Given the description of an element on the screen output the (x, y) to click on. 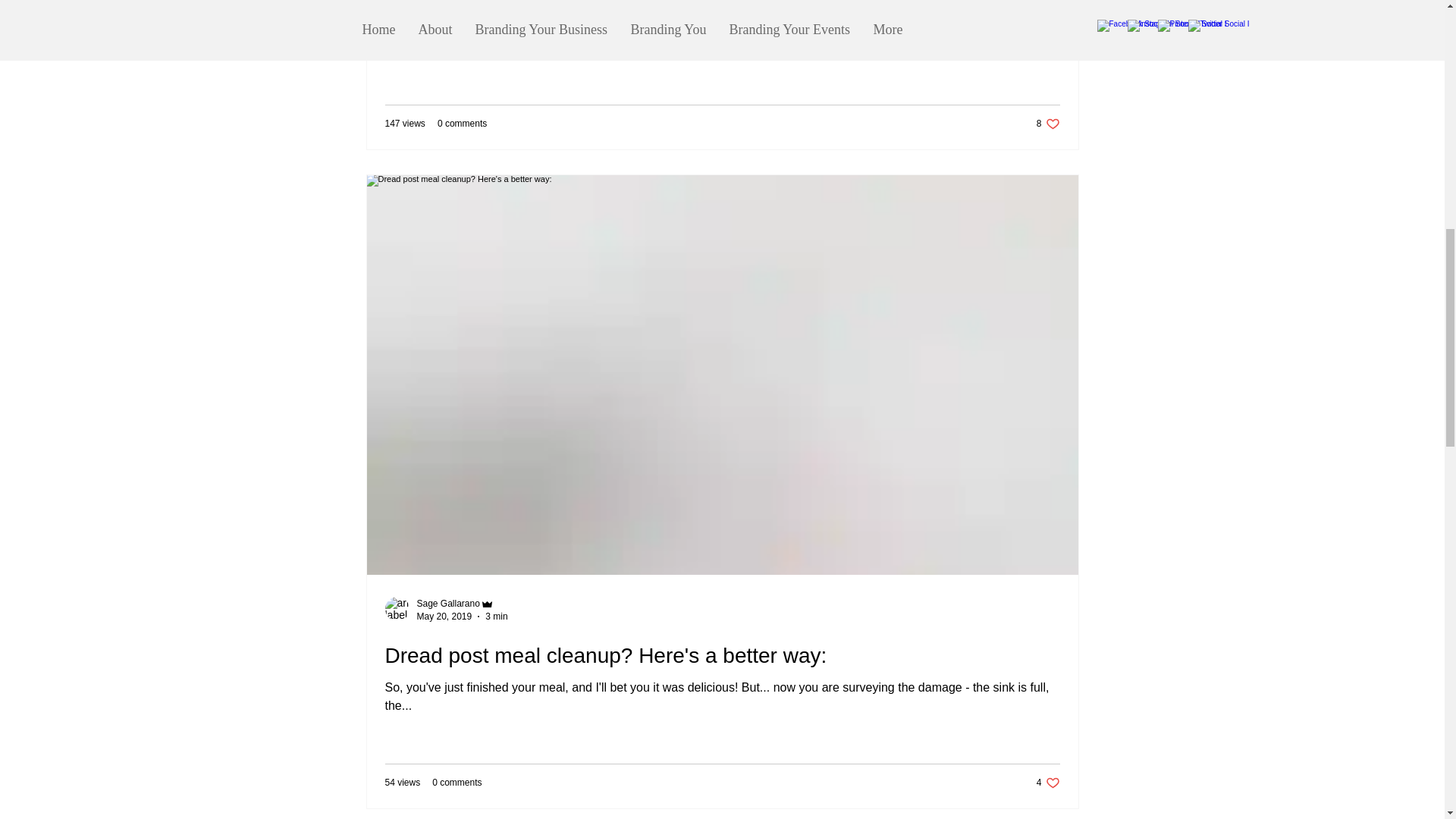
Sage Gallarano (1047, 781)
0 comments (448, 603)
3 min (456, 782)
May 20, 2019 (495, 615)
Dread post meal cleanup? Here's a better way: (443, 615)
0 comments (722, 655)
Sage Gallarano (462, 122)
